Given the description of an element on the screen output the (x, y) to click on. 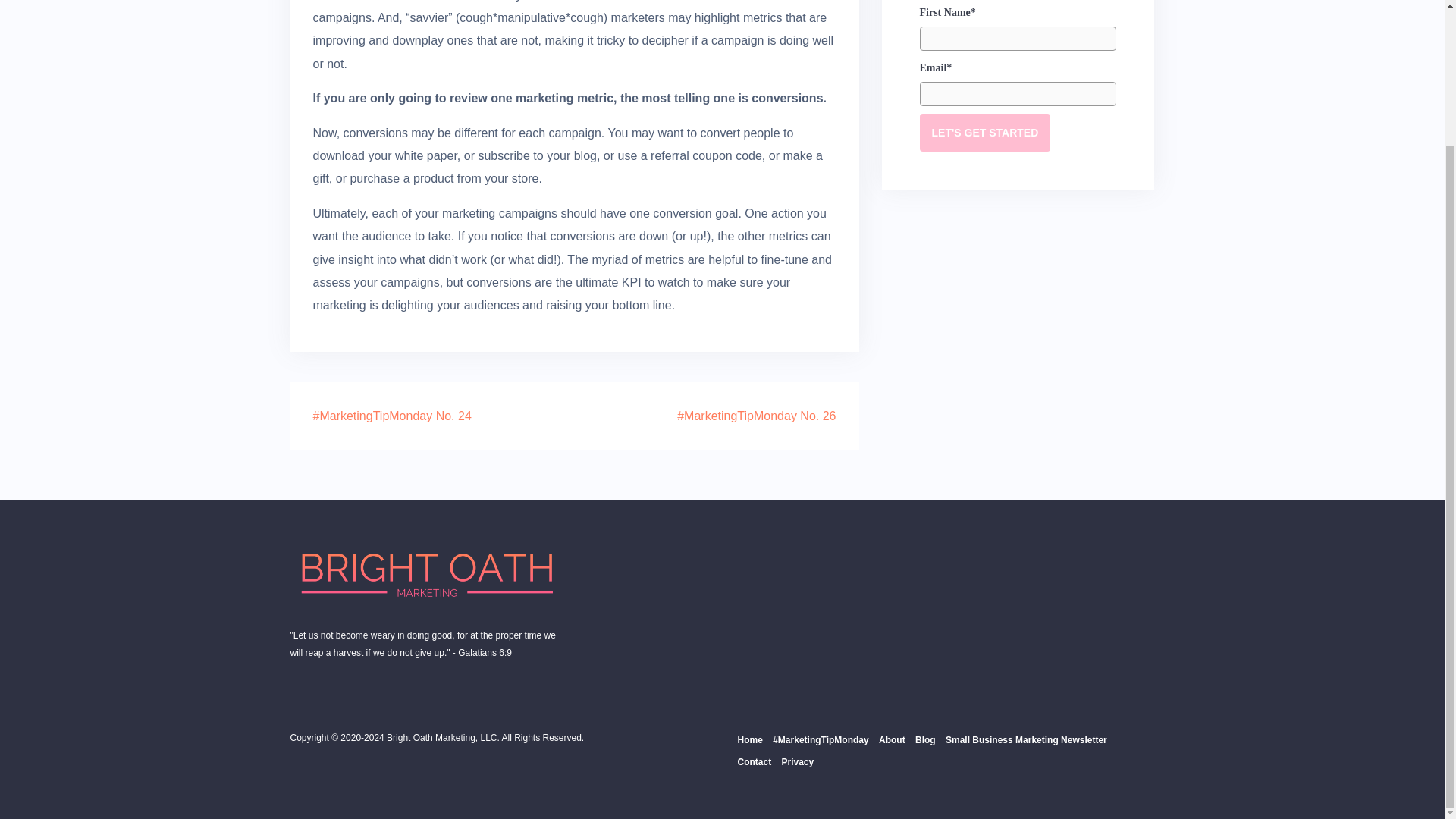
LET'S GET STARTED (983, 132)
Contact (753, 761)
Blog (925, 739)
Privacy (797, 761)
Home (748, 739)
About (892, 739)
Small Business Marketing Newsletter (1025, 739)
